Given the description of an element on the screen output the (x, y) to click on. 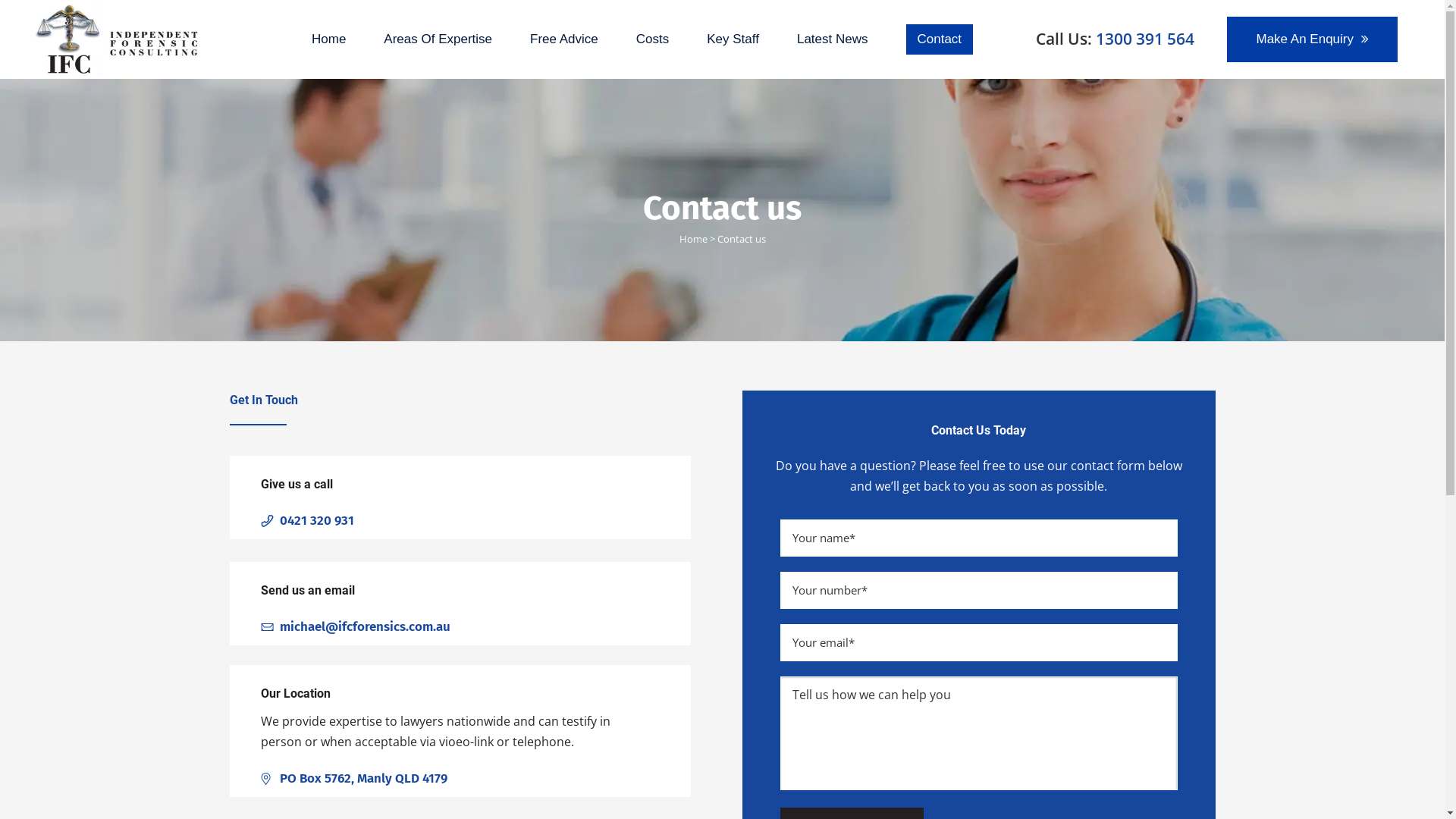
michael@ifcforensics.com.au Element type: text (364, 627)
Latest News Element type: text (832, 39)
Key Staff Element type: text (732, 39)
Contact Element type: text (939, 39)
Areas Of Expertise Element type: text (437, 39)
Free Advice Element type: text (564, 39)
Make An Enquiry Element type: text (1311, 39)
Call Us: 1300 391 564 Element type: text (1114, 37)
Costs Element type: text (652, 39)
Home Element type: text (693, 238)
0421 320 931 Element type: text (316, 520)
Home Element type: text (328, 39)
PO Box 5762, Manly QLD 4179 Element type: text (362, 778)
